Given the description of an element on the screen output the (x, y) to click on. 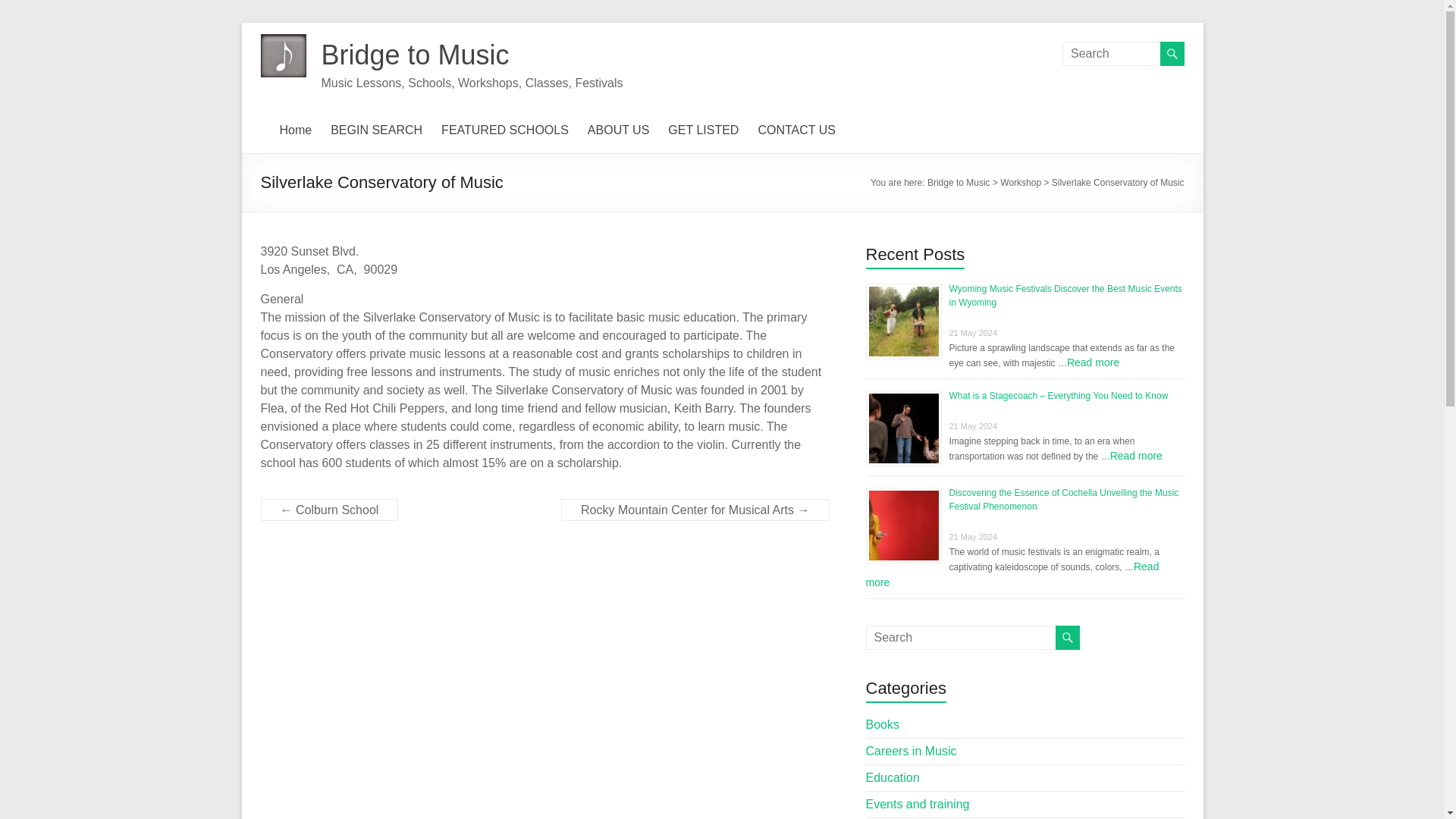
CONTACT US (796, 129)
Careers in Music (911, 750)
Read more (1012, 574)
Education (893, 777)
GET LISTED (703, 129)
Read more (1093, 362)
BEGIN SEARCH (376, 129)
Bridge to Music (415, 54)
Bridge to Music (415, 54)
FEATURED SCHOOLS (505, 129)
Read more (1135, 455)
Events and training (917, 803)
Books (882, 724)
